Given the description of an element on the screen output the (x, y) to click on. 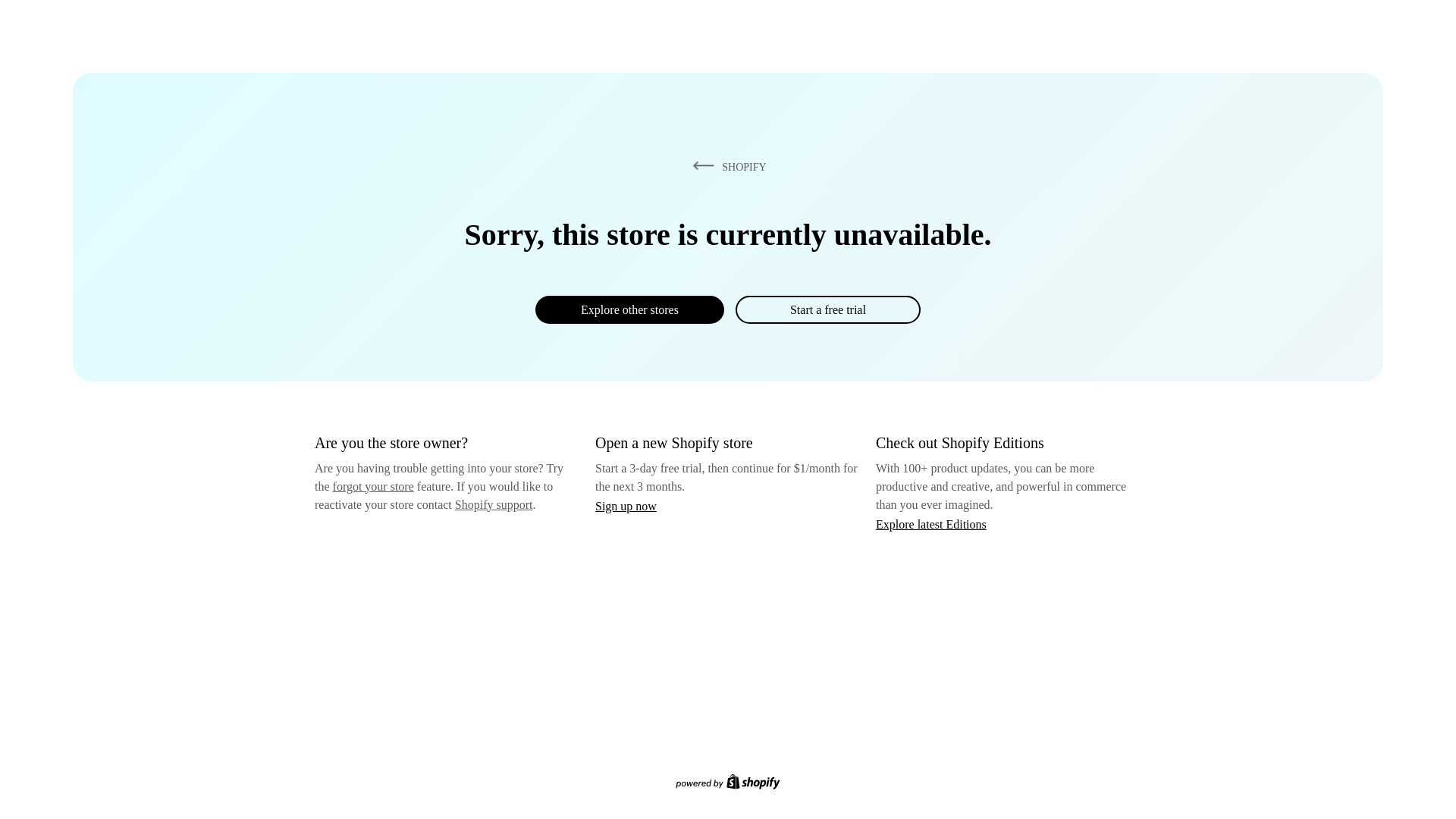
Start a free trial (827, 309)
forgot your store (373, 486)
SHOPIFY (726, 166)
Shopify support (493, 504)
Explore latest Editions (931, 523)
Sign up now (625, 505)
Explore other stores (629, 309)
